Given the description of an element on the screen output the (x, y) to click on. 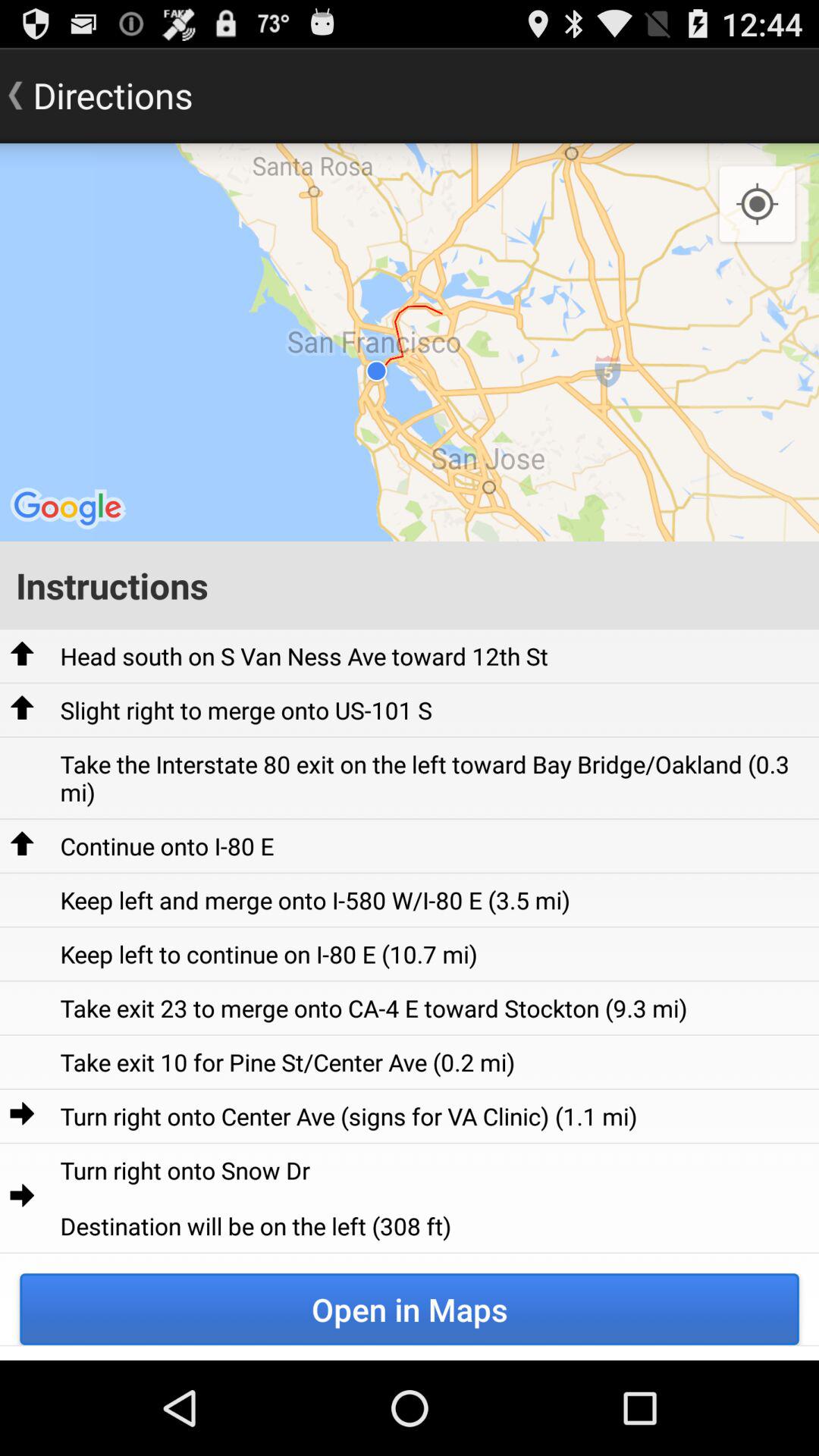
flip until the head south on item (304, 655)
